Given the description of an element on the screen output the (x, y) to click on. 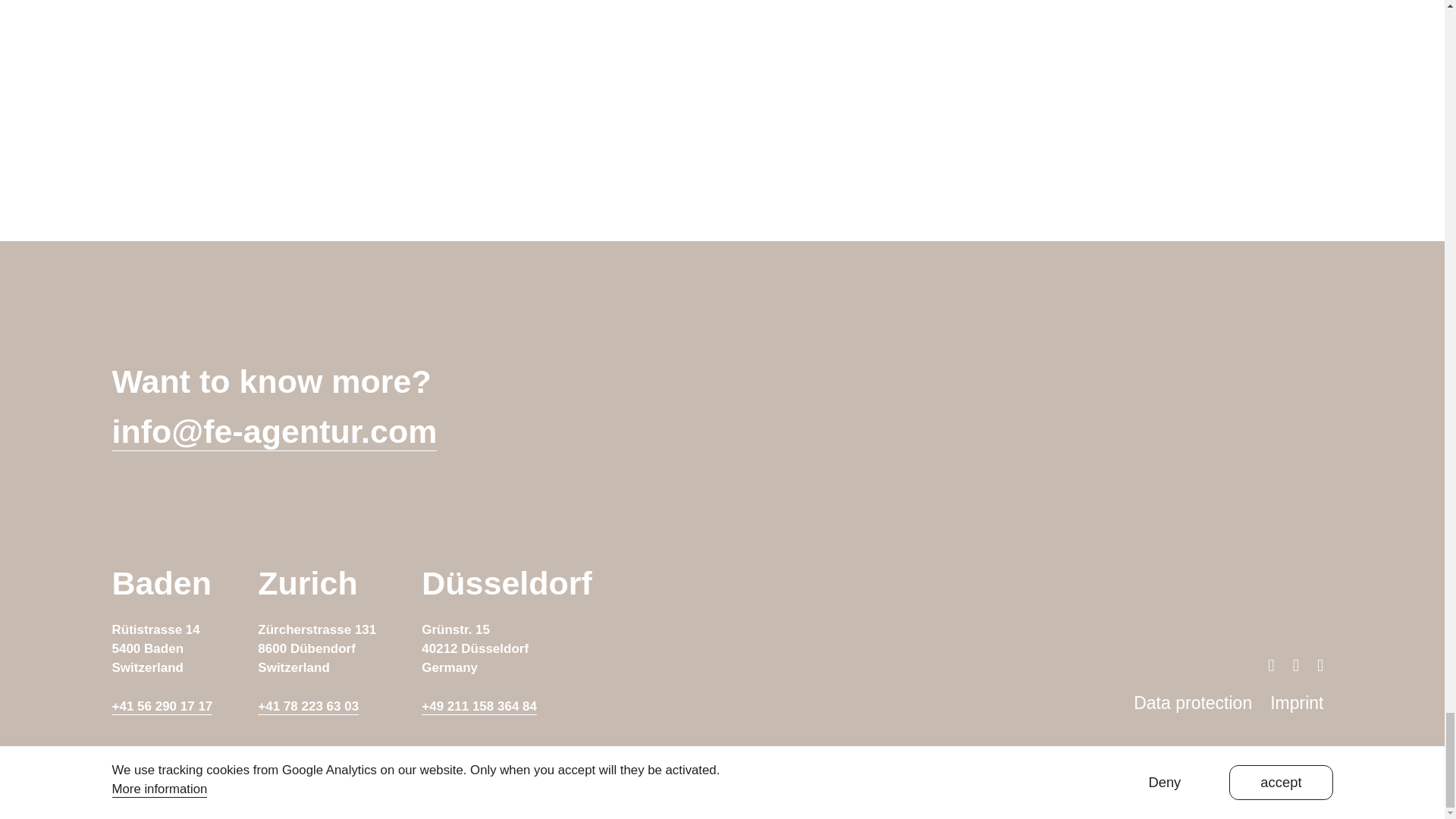
Imprint (1296, 702)
Data protection (1193, 702)
